Given the description of an element on the screen output the (x, y) to click on. 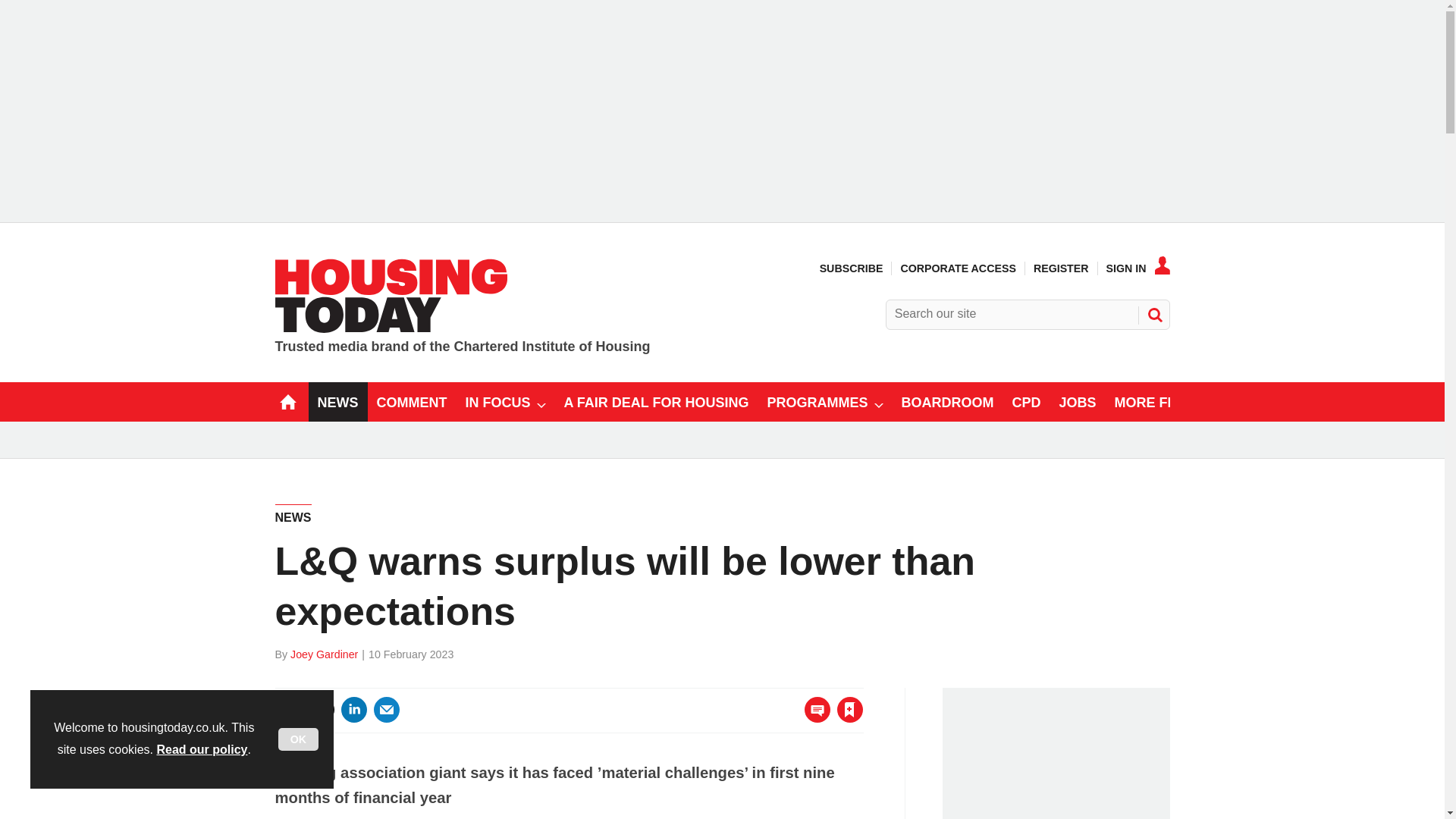
Read our policy (201, 748)
OK (298, 739)
Share this on Facebook (288, 709)
REGISTER (1061, 268)
SIGN IN (1138, 268)
Insert Logo text (391, 328)
SUBSCRIBE (851, 268)
3rd party ad content (1059, 758)
Share this on Twitter (320, 709)
No comments (812, 718)
Email this article (386, 709)
CORPORATE ACCESS (956, 268)
SEARCH (1153, 314)
Share this on Linked in (352, 709)
